Given the description of an element on the screen output the (x, y) to click on. 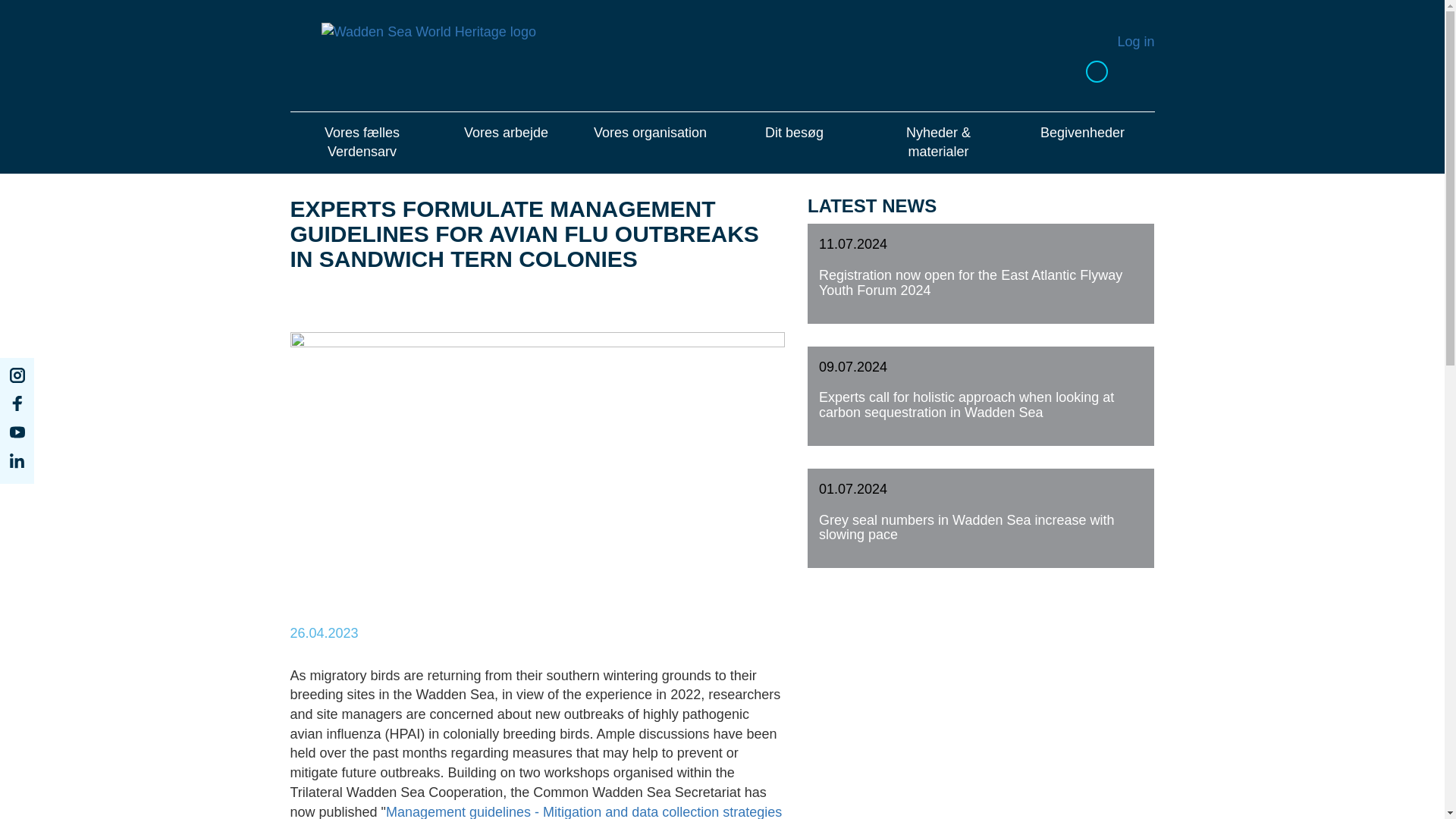
Log in (1135, 41)
Dutch (1143, 71)
Vores arbejde (505, 142)
Deutsch (1120, 71)
Vores organisation (650, 142)
Danish (1097, 71)
English (1073, 71)
Begivenheder (1082, 142)
